Given the description of an element on the screen output the (x, y) to click on. 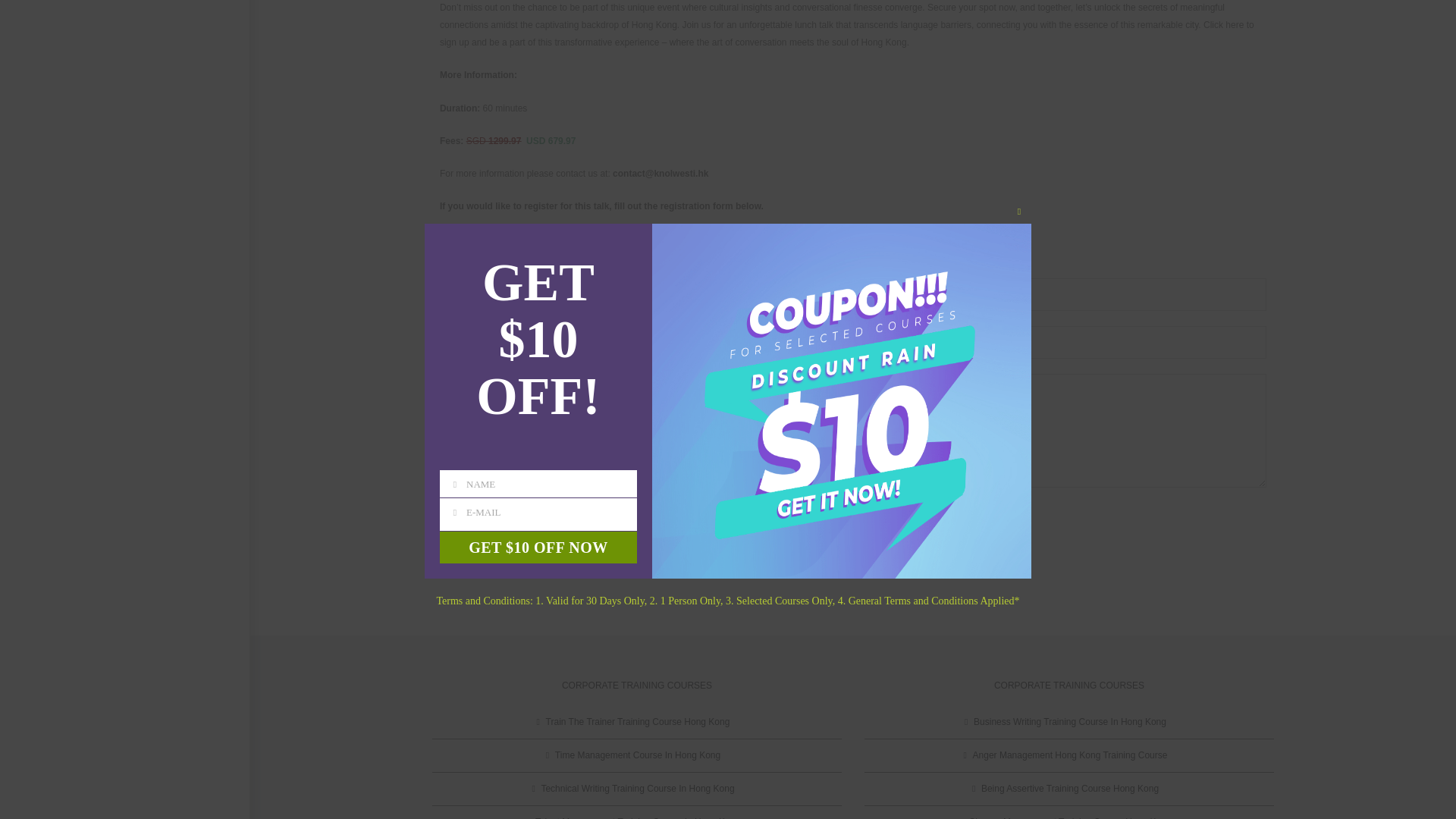
submit (467, 518)
